Given the description of an element on the screen output the (x, y) to click on. 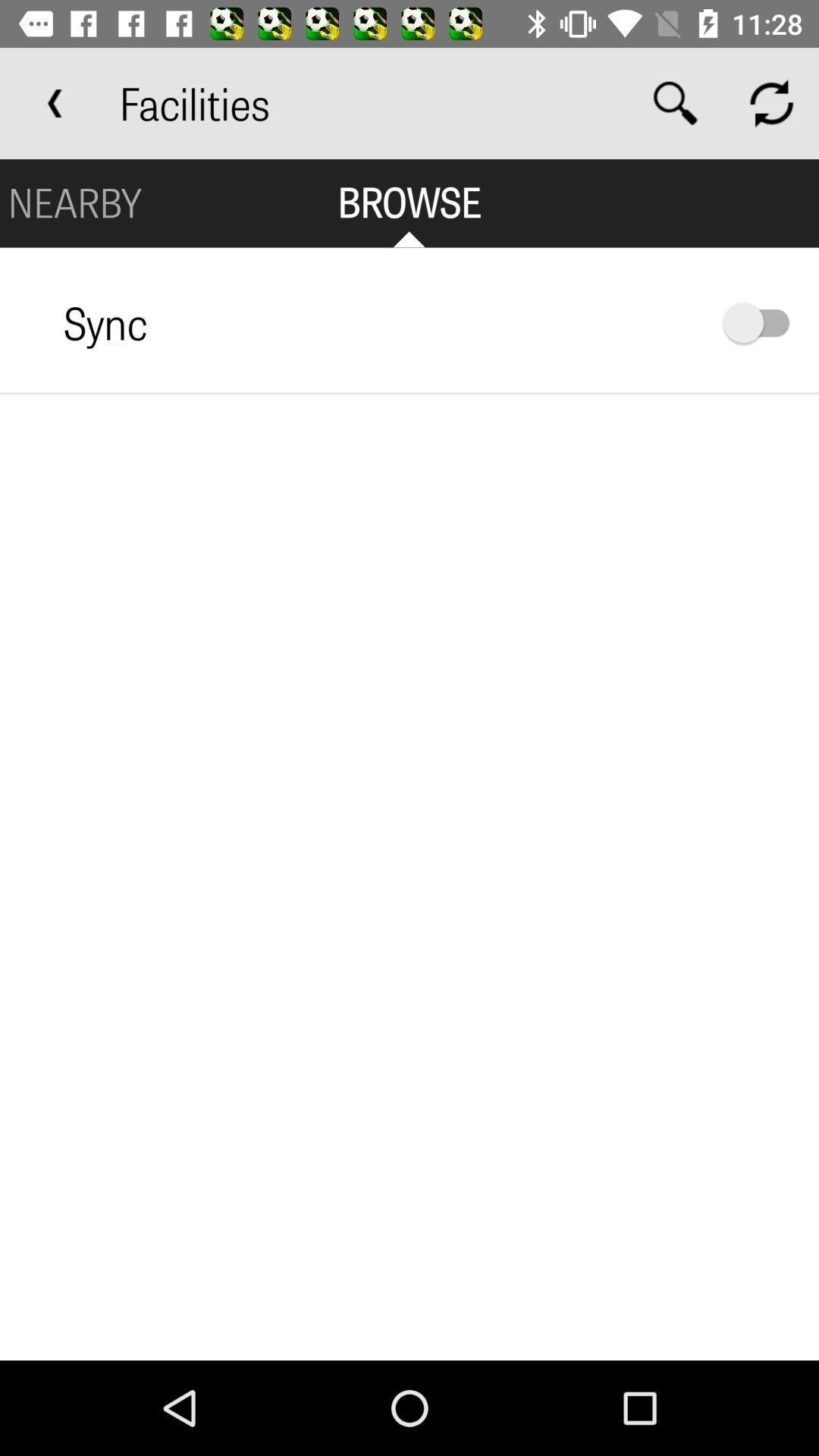
turn off app next to the facilities app (55, 103)
